Given the description of an element on the screen output the (x, y) to click on. 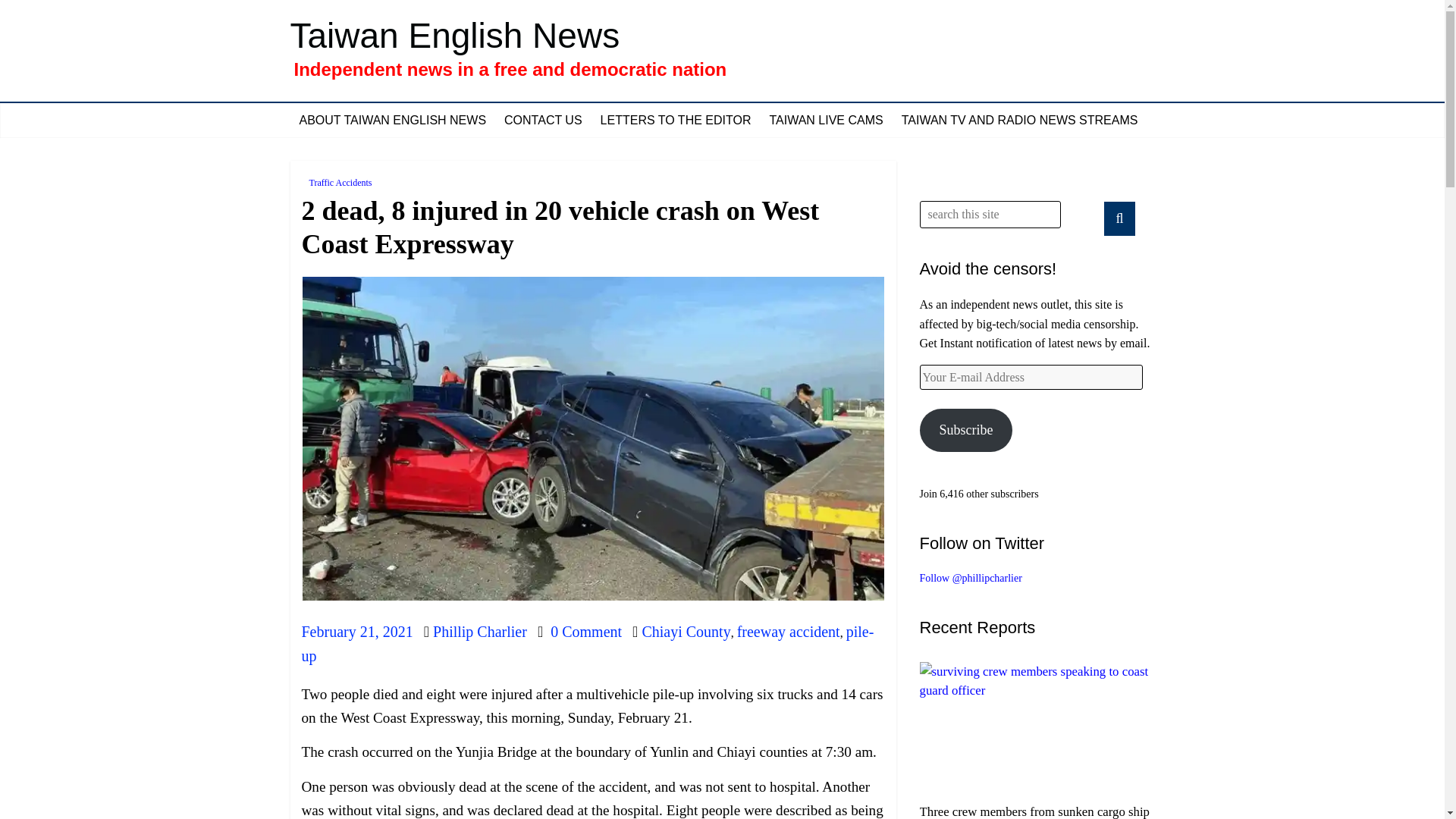
TAIWAN TV AND RADIO NEWS STREAMS (1019, 120)
freeway accident (788, 631)
ABOUT TAIWAN ENGLISH NEWS (392, 120)
CONTACT US (543, 120)
Chiayi County (686, 631)
Subscribe (964, 430)
TAIWAN LIVE CAMS (825, 120)
Phillip Charlier (479, 631)
Traffic Accidents (340, 182)
LETTERS TO THE EDITOR (675, 120)
pile-up (588, 643)
February 21, 2021 (357, 631)
Taiwan English News (454, 35)
0 Comment (579, 631)
